Given the description of an element on the screen output the (x, y) to click on. 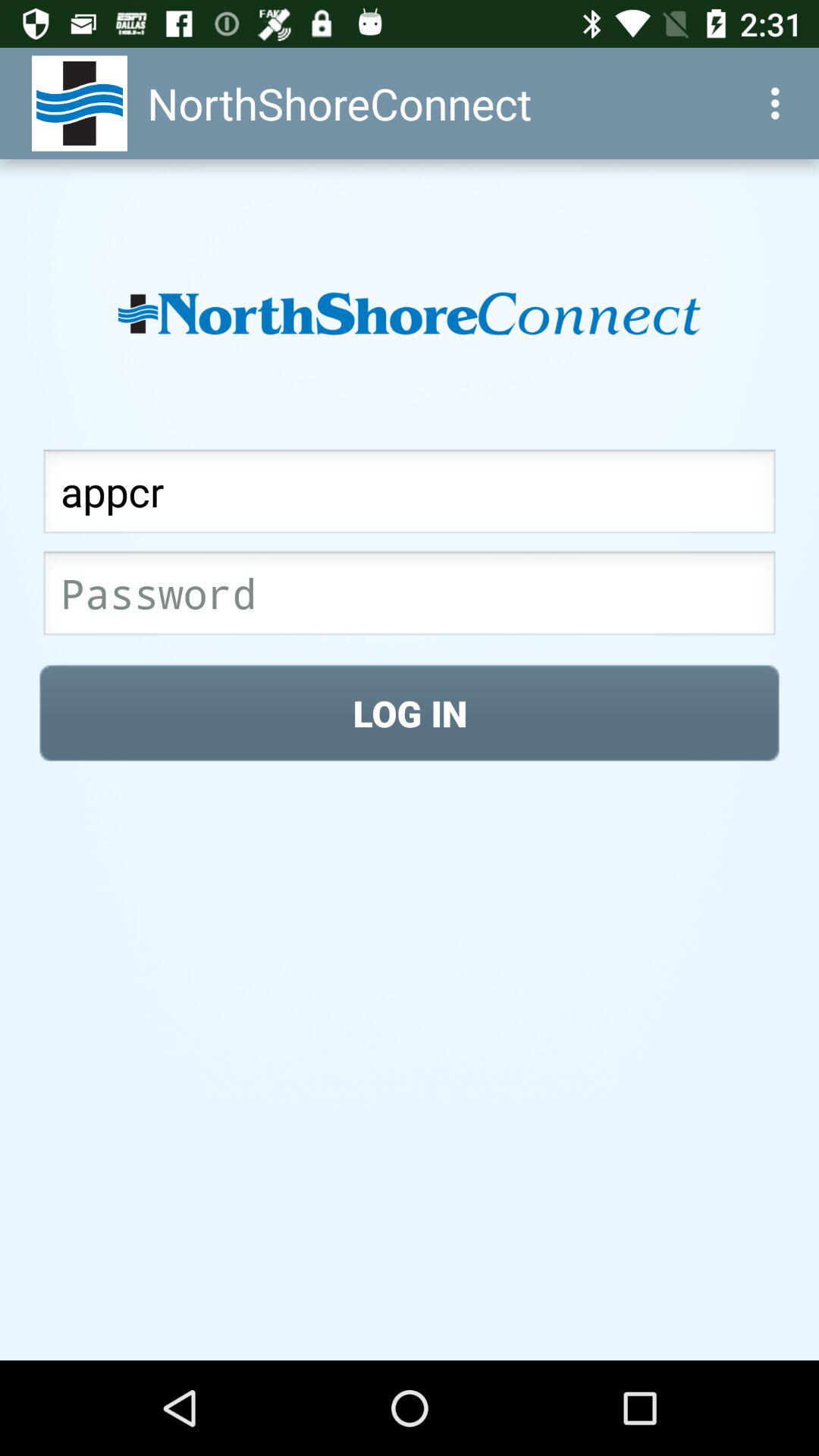
turn off the appcr (409, 495)
